Given the description of an element on the screen output the (x, y) to click on. 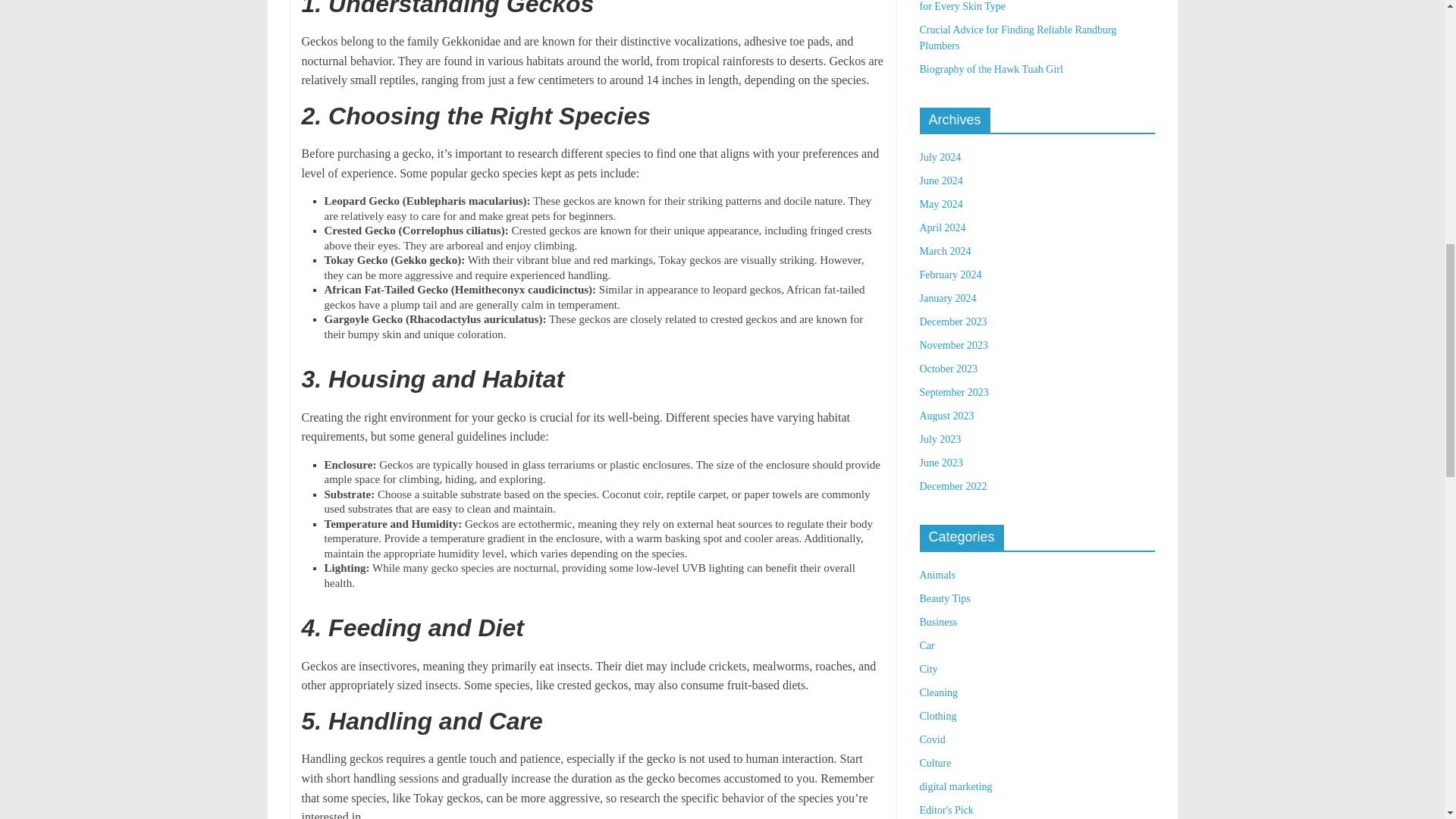
June 2024 (940, 180)
Crucial Advice for Finding Reliable Randburg Plumbers (1017, 37)
May 2024 (940, 204)
Biography of the Hawk Tuah Girl (990, 69)
July 2024 (939, 156)
